Given the description of an element on the screen output the (x, y) to click on. 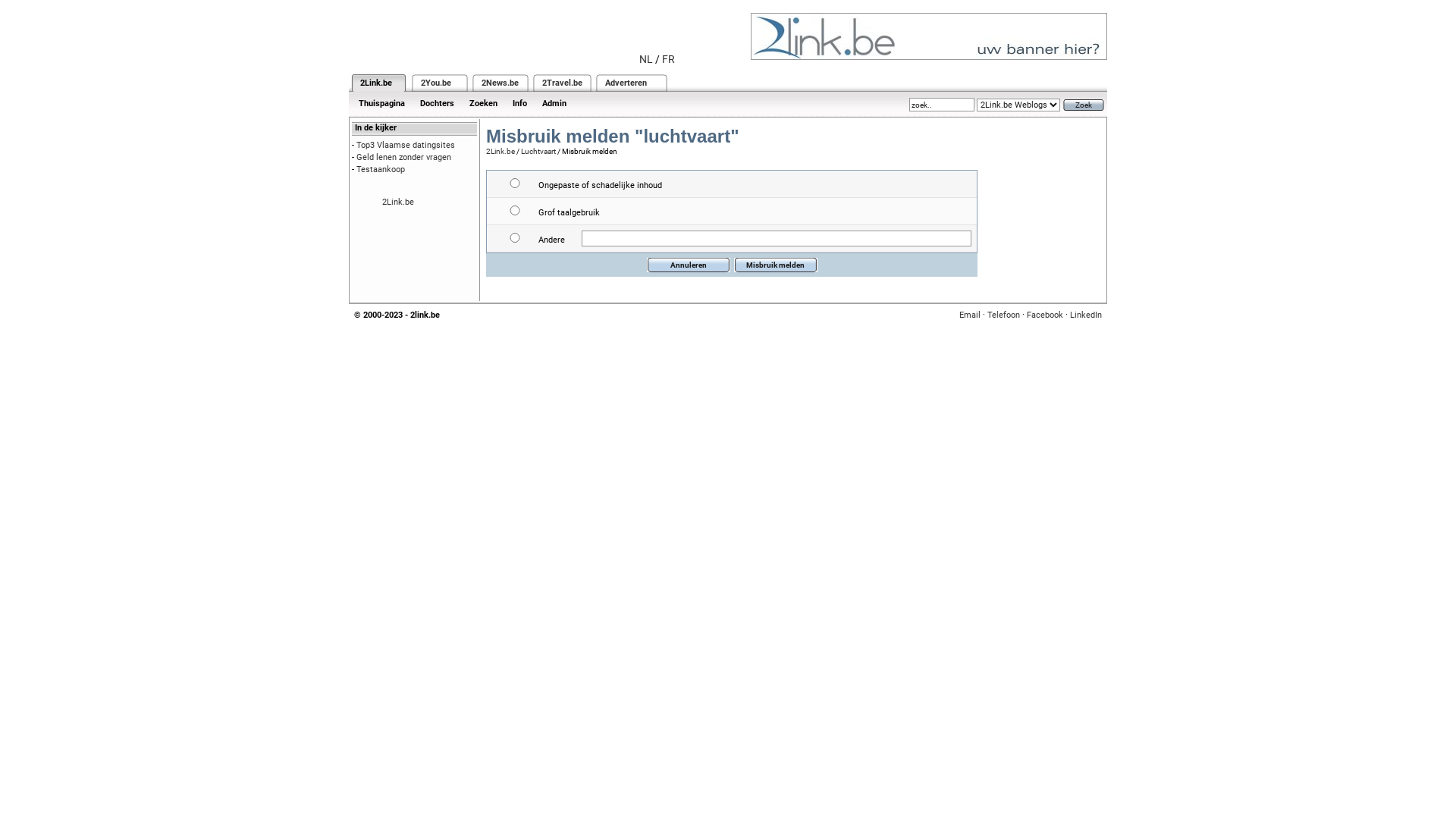
Top3 Vlaamse datingsites Element type: text (405, 145)
Dochters Element type: text (436, 103)
FR Element type: text (668, 59)
Zoek Element type: text (1083, 103)
Telefoon Element type: text (1003, 315)
Email Element type: text (969, 315)
2News.be Element type: text (499, 82)
2Link.be Element type: text (376, 82)
Luchtvaart Element type: text (537, 151)
Zoeken Element type: text (483, 103)
2Travel.be Element type: text (562, 82)
Info Element type: text (519, 103)
Thuispagina Element type: text (381, 103)
LinkedIn Element type: text (1085, 315)
Admin Element type: text (554, 103)
2Link.be Element type: text (398, 202)
Misbruik melden Element type: text (775, 264)
2You.be Element type: text (435, 82)
NL Element type: text (645, 59)
Facebook Element type: text (1044, 315)
Geld lenen zonder vragen Element type: text (403, 157)
2Link.be Element type: text (500, 151)
Testaankoop Element type: text (380, 169)
Adverteren Element type: text (625, 82)
